Given the description of an element on the screen output the (x, y) to click on. 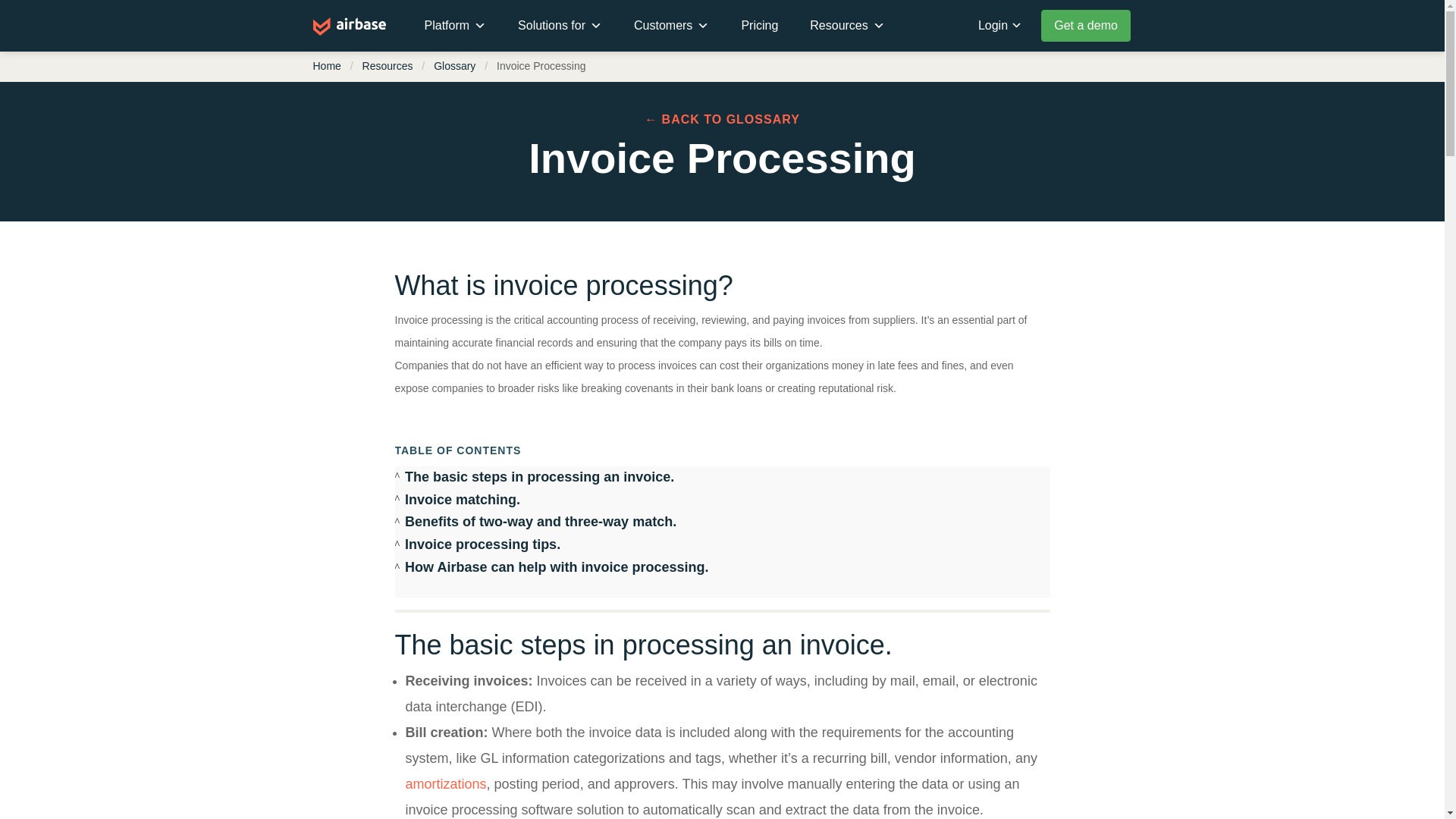
Home (326, 65)
Platform (454, 25)
Resources (387, 65)
Glossary (454, 65)
